Given the description of an element on the screen output the (x, y) to click on. 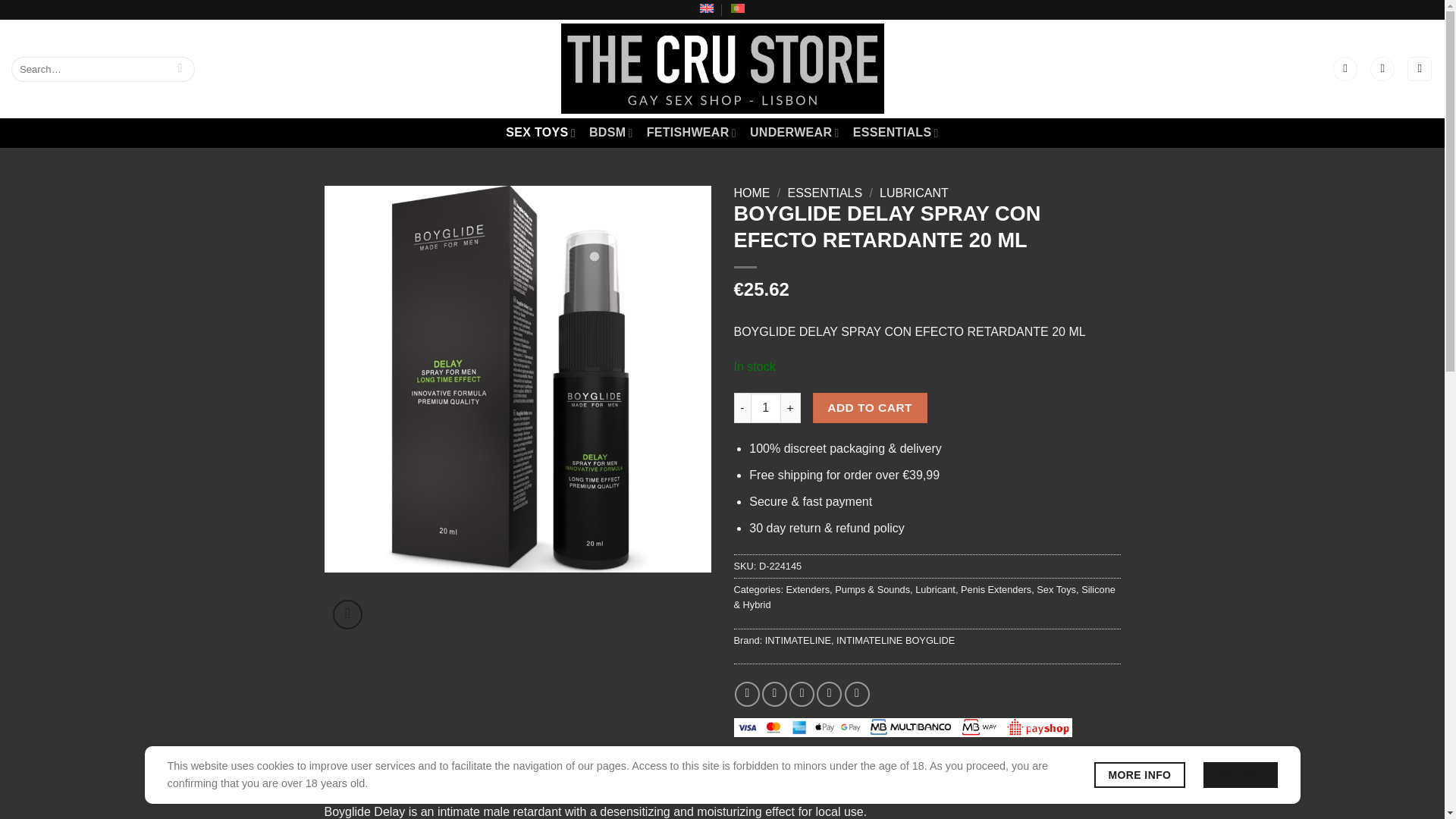
Search (179, 68)
BDSM (611, 132)
Share on LinkedIn (856, 693)
Pin on Pinterest (828, 693)
Share on Twitter (774, 693)
Wishlist (1382, 68)
Login (1344, 68)
1 (765, 408)
Cart (1419, 68)
ESSENTIALS (896, 132)
Zoom (347, 614)
UNDERWEAR (794, 132)
SEX TOYS (540, 132)
Share on Facebook (747, 693)
Email to a Friend (801, 693)
